Given the description of an element on the screen output the (x, y) to click on. 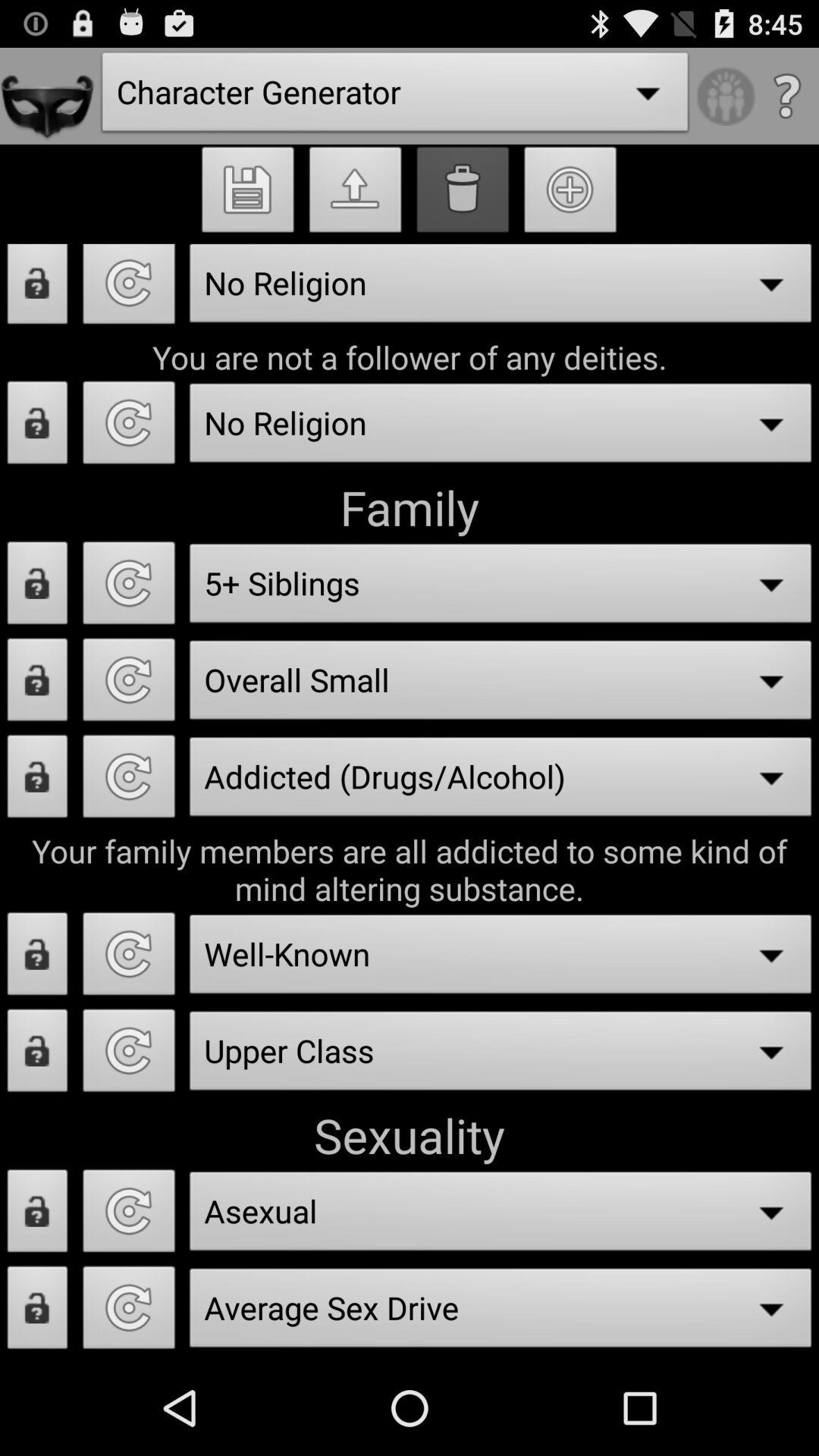
go to lock (37, 289)
